Given the description of an element on the screen output the (x, y) to click on. 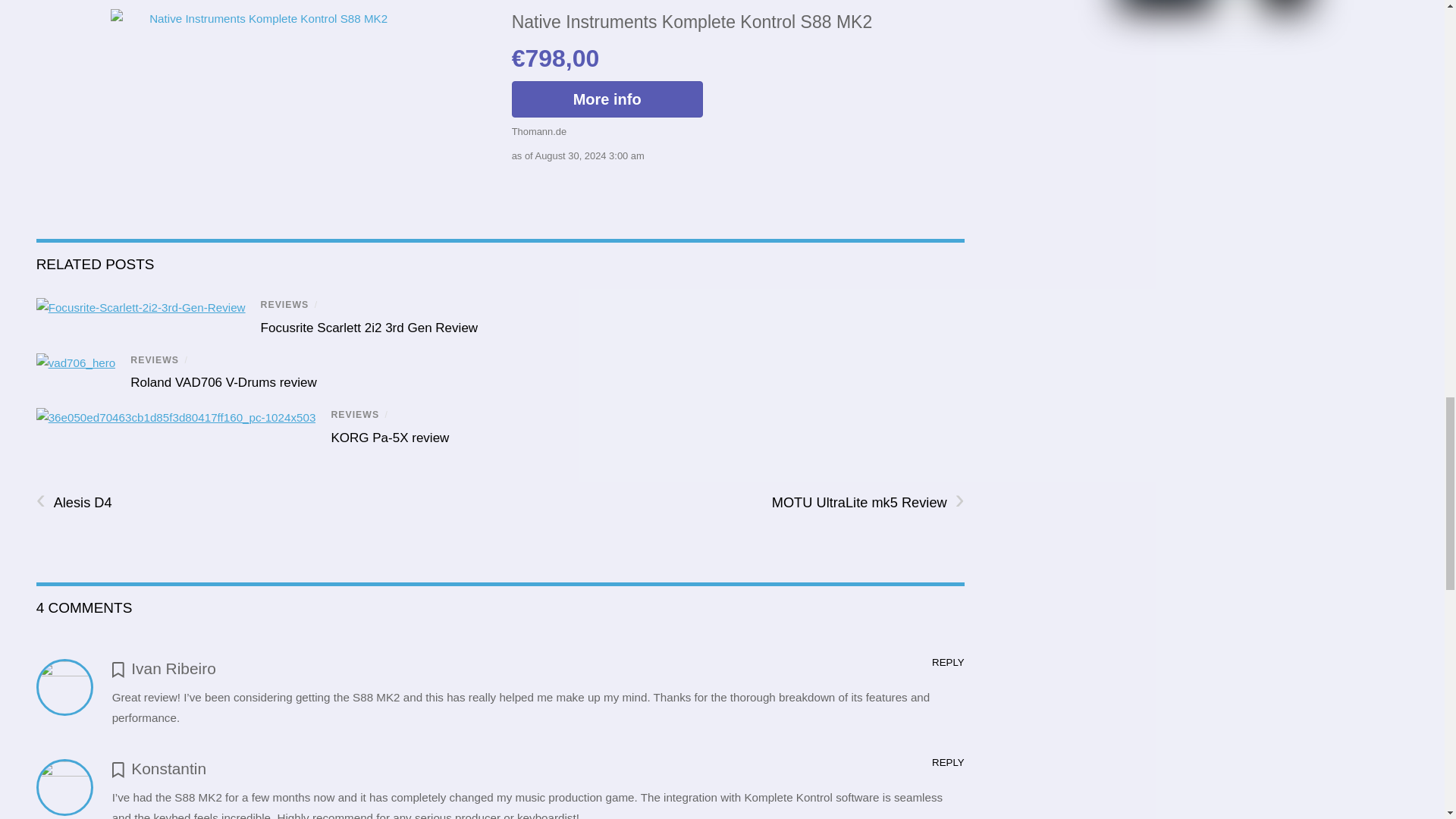
REVIEWS (284, 304)
KORG Pa-5X review (389, 437)
More info (607, 99)
Roland VAD706 V-Drums review (224, 382)
Roland VAD706 V-Drums review (224, 382)
REPLY (947, 762)
Focusrite-Scarlett-2i2-3rd-Gen-Review (141, 308)
KORG Pa-5X review (389, 437)
REVIEWS (155, 359)
REPLY (947, 662)
